Given the description of an element on the screen output the (x, y) to click on. 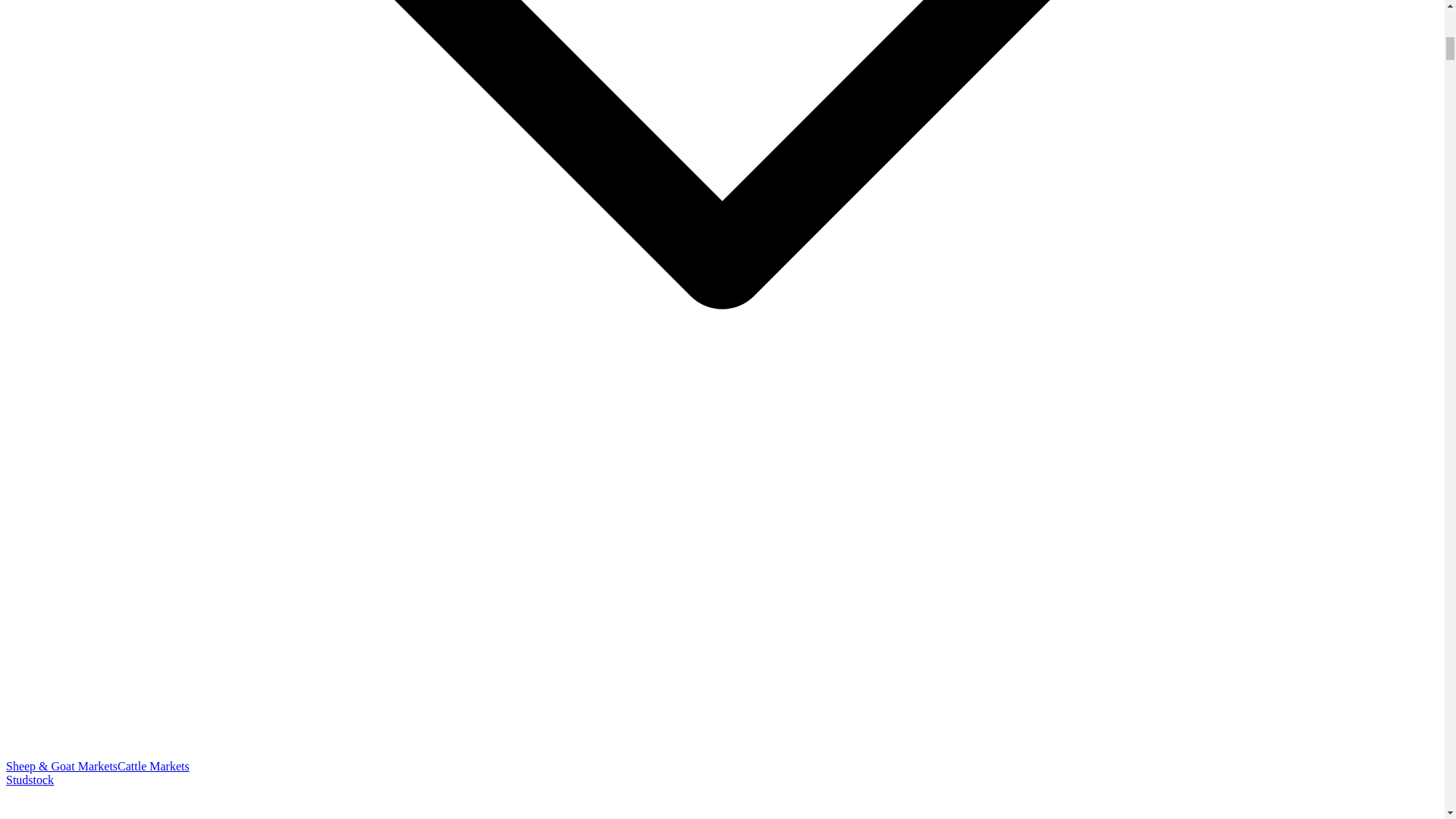
Cattle Markets (153, 766)
Studstock (29, 779)
